Given the description of an element on the screen output the (x, y) to click on. 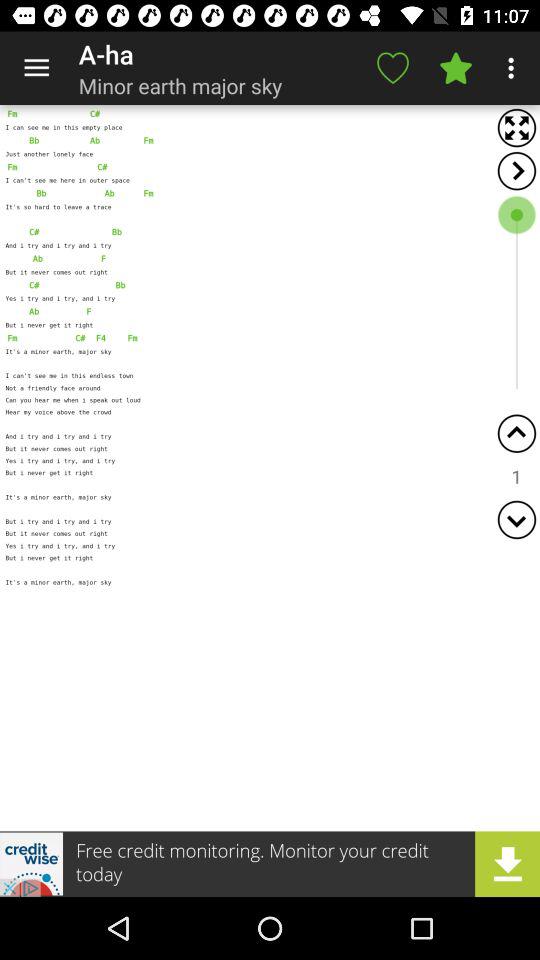
go to next arrow (516, 170)
